Given the description of an element on the screen output the (x, y) to click on. 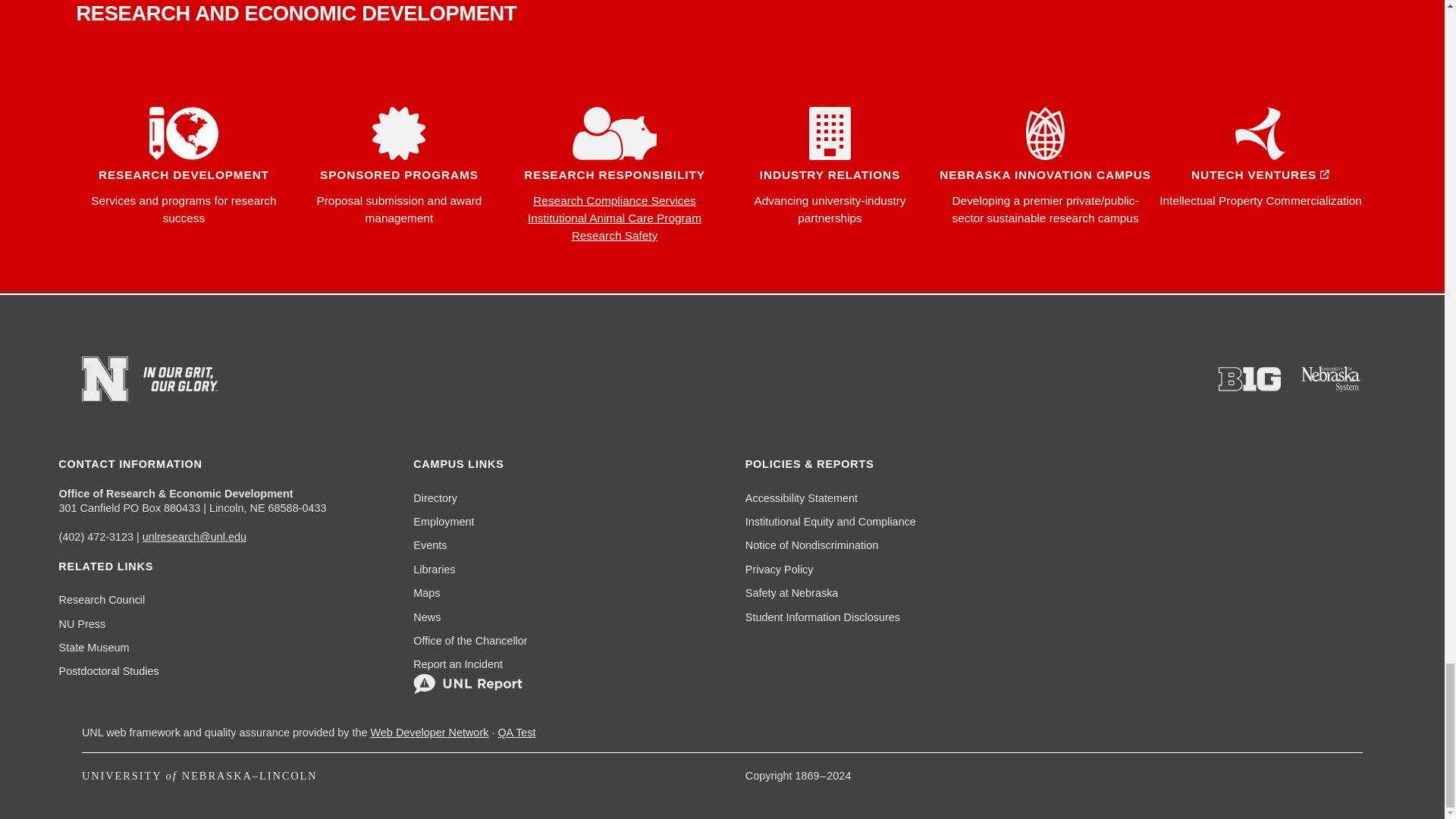
Postdoctoral Studies (108, 671)
State Museum (94, 648)
University of Nebraska Press  (82, 624)
